Given the description of an element on the screen output the (x, y) to click on. 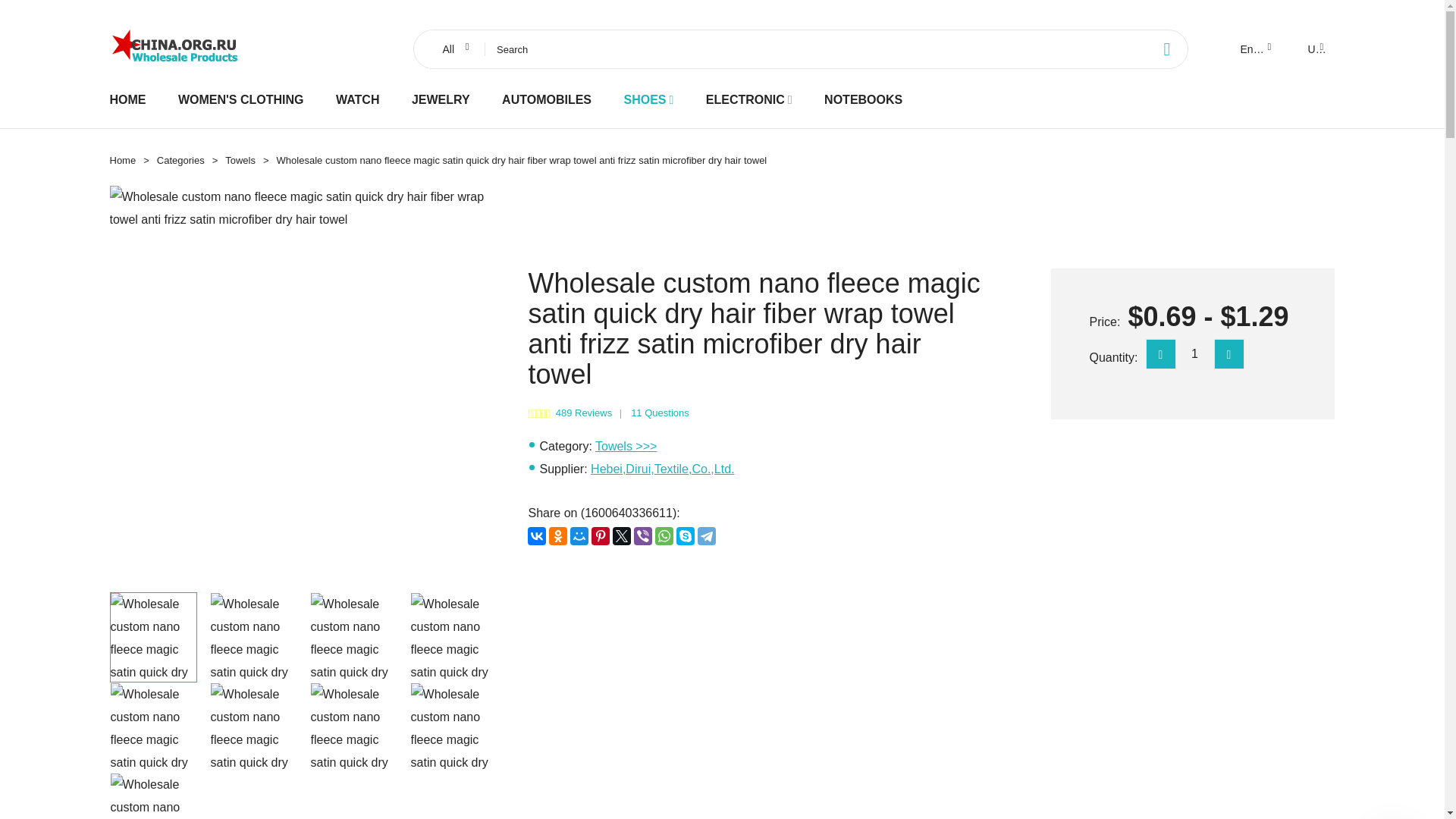
Towels (240, 160)
HOME (127, 99)
All (454, 48)
NOTEBOOKS (863, 99)
AUTOMOBILES (546, 99)
11 Questions (659, 412)
ELECTRONIC (745, 99)
Advertisement (756, 674)
Twitter (621, 536)
1 (1194, 354)
WhatsApp (663, 536)
WATCH (357, 99)
SHOES (644, 99)
Telegram (706, 536)
489 Reviews (583, 412)
